Given the description of an element on the screen output the (x, y) to click on. 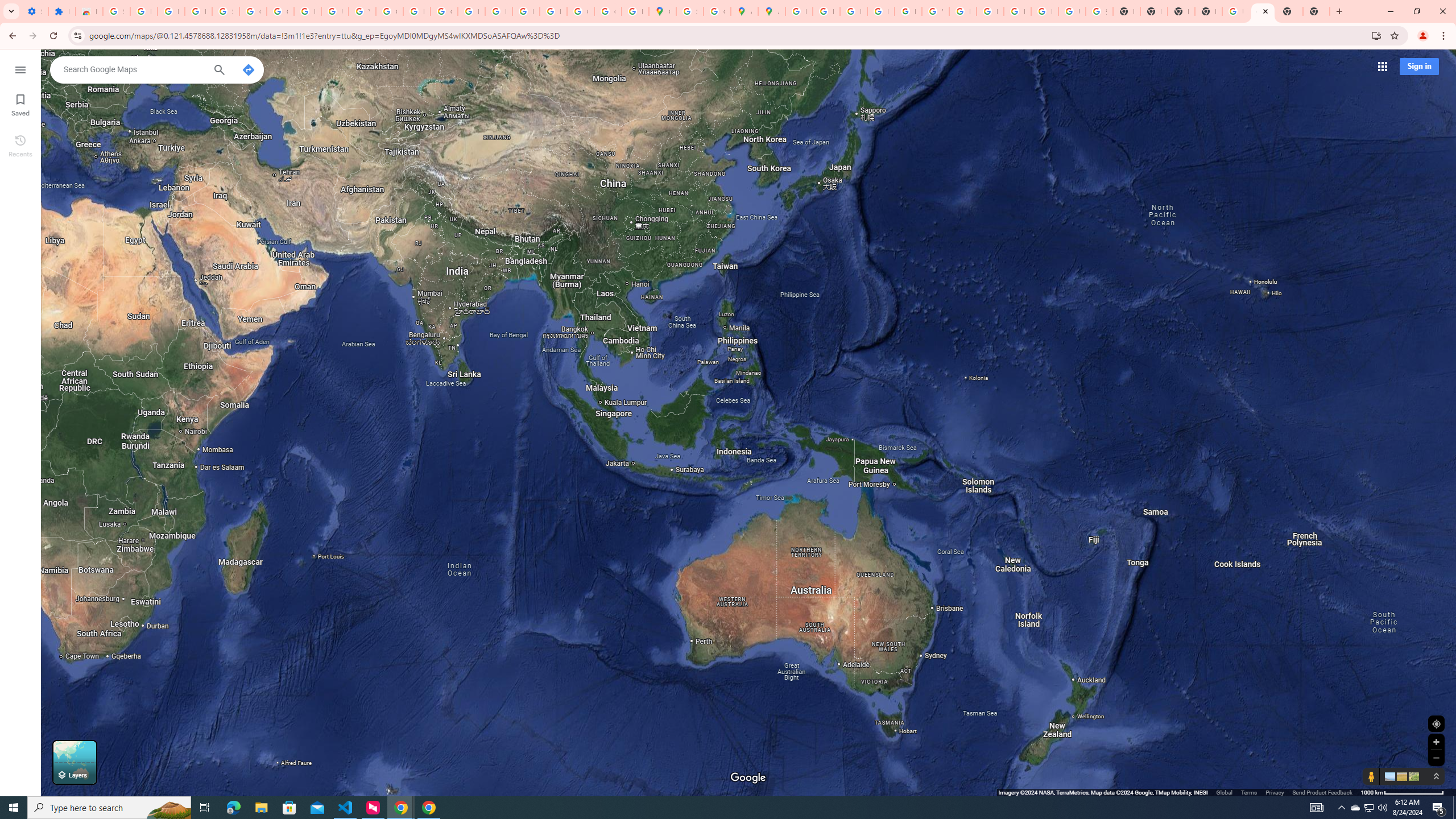
Sign in - Google Accounts (225, 11)
New Tab (1316, 11)
Sign in (1418, 66)
Minimize (1390, 11)
Search (218, 70)
Policy Accountability and Transparency - Transparency Center (799, 11)
Reload (52, 35)
